Given the description of an element on the screen output the (x, y) to click on. 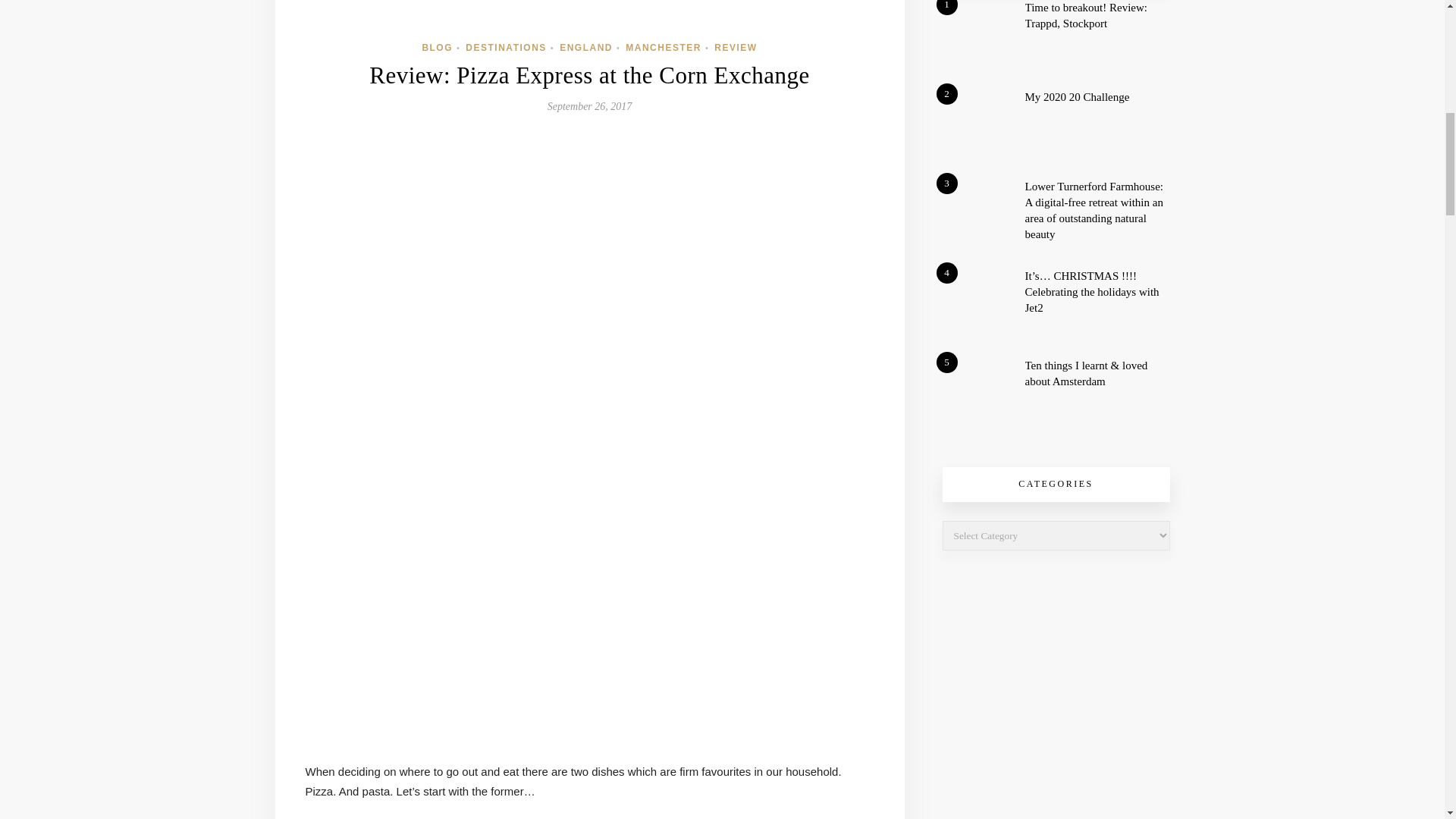
MANCHESTER (663, 47)
DESTINATIONS (505, 47)
BLOG (437, 47)
ENGLAND (585, 47)
REVIEW (735, 47)
